Given the description of an element on the screen output the (x, y) to click on. 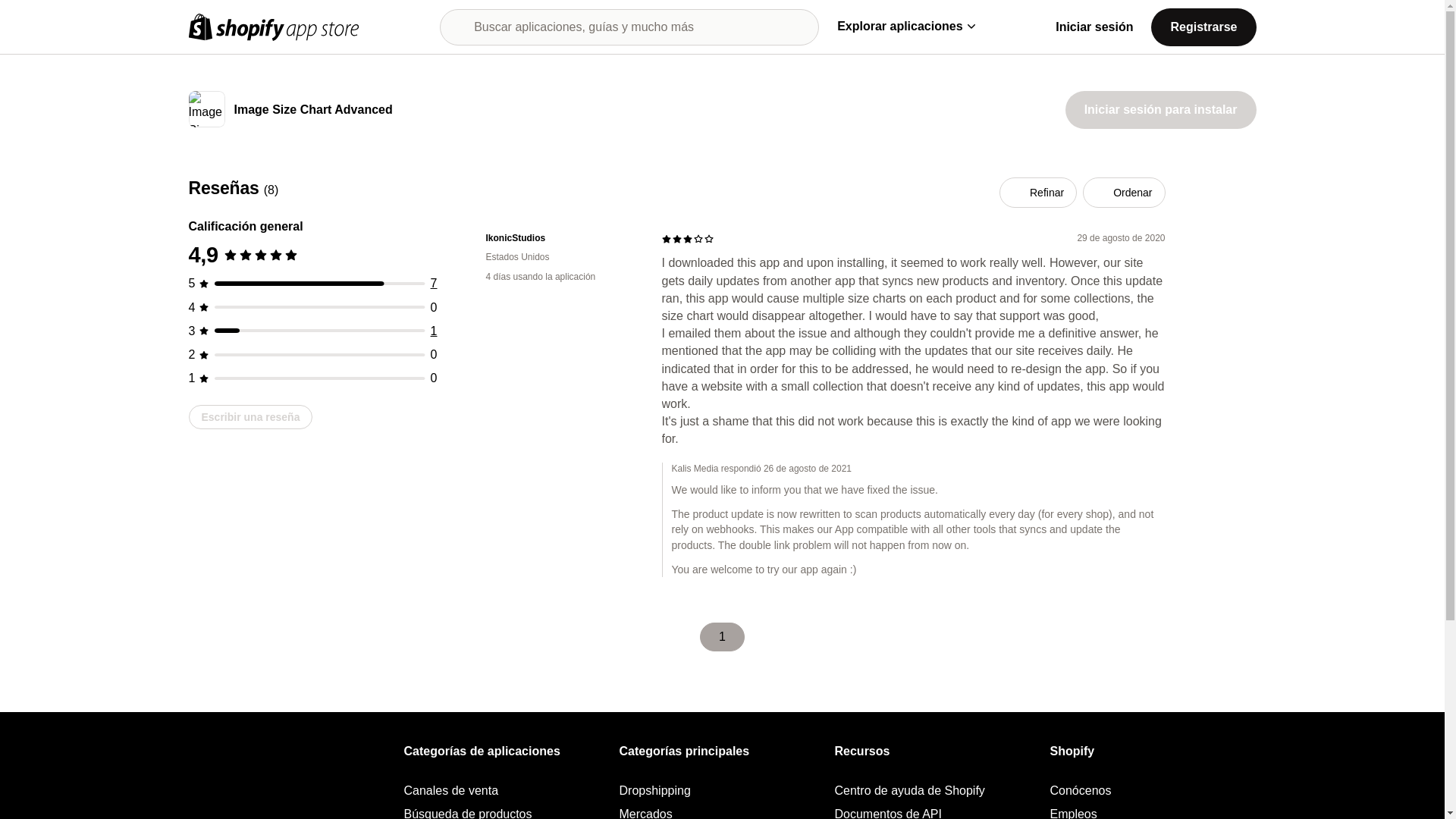
IkonicStudios (560, 237)
Registrarse (1203, 26)
Explorar aplicaciones (905, 26)
Ordenar (1123, 192)
1 (434, 330)
Image Size Chart Advanced (311, 110)
7 (434, 282)
Refinar (1037, 192)
